Given the description of an element on the screen output the (x, y) to click on. 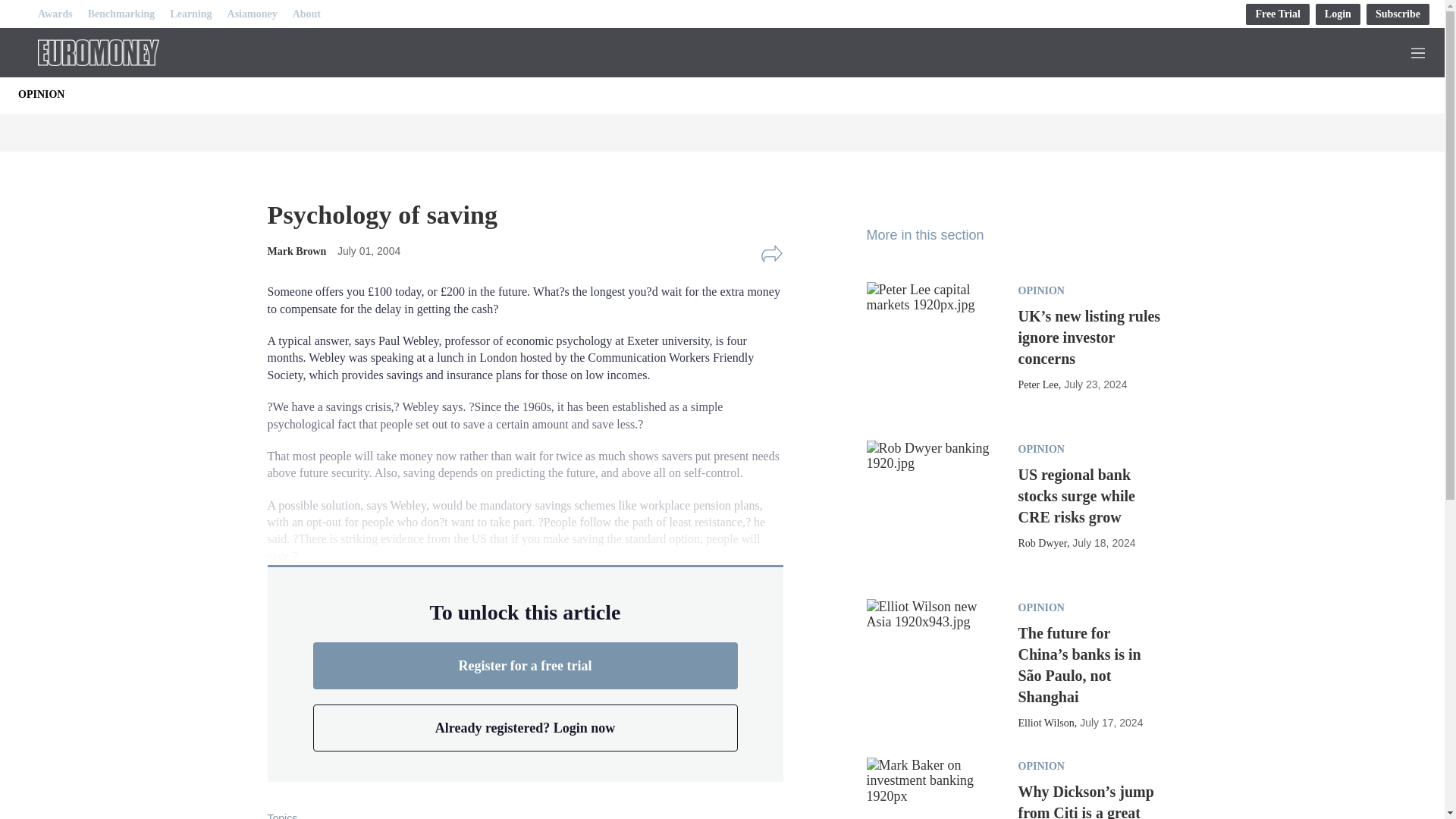
Free Trial (1277, 13)
Share (771, 253)
Awards (54, 13)
Learning (190, 13)
Login (1337, 13)
Benchmarking (121, 13)
Subscribe (1398, 13)
Asiamoney (252, 13)
About (306, 13)
